Given the description of an element on the screen output the (x, y) to click on. 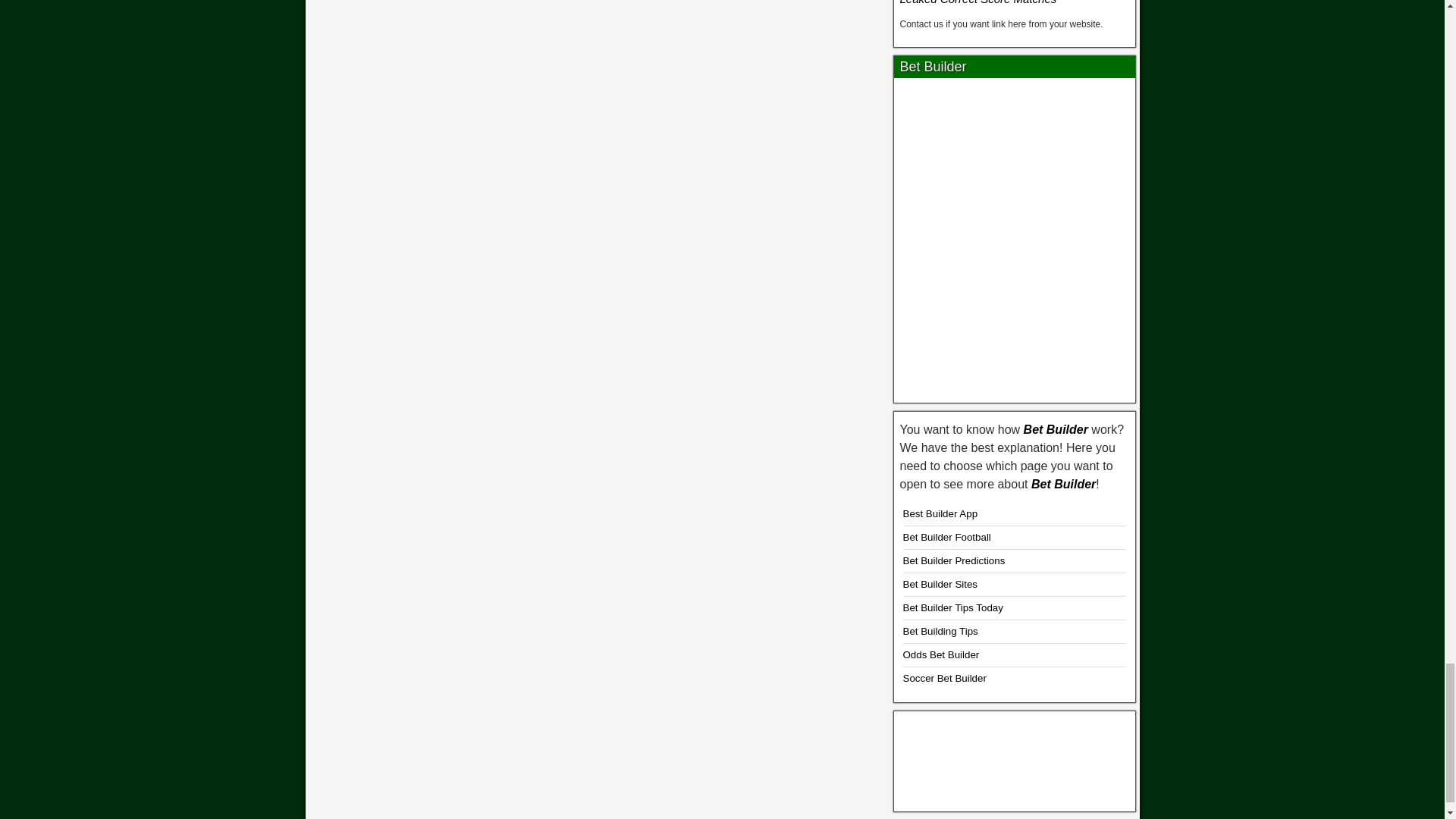
big odds fixed matches (1014, 758)
Bet Builder Bet365 Bookie (1014, 235)
